Given the description of an element on the screen output the (x, y) to click on. 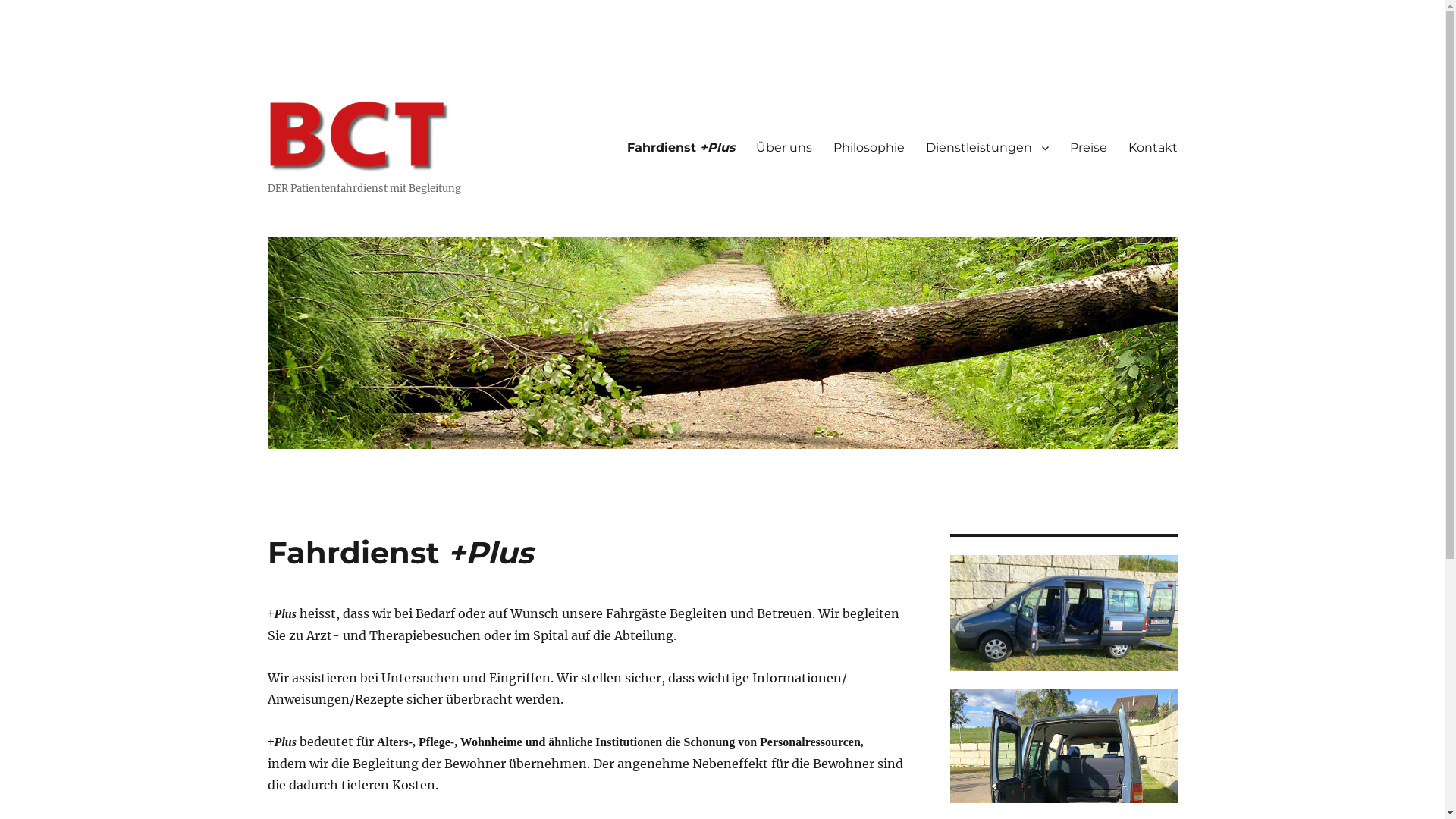
Fahrdienst +Plus Element type: text (679, 147)
Dienstleistungen Element type: text (986, 147)
Philosophie Element type: text (868, 147)
Preise Element type: text (1087, 147)
Kontakt Element type: text (1152, 147)
